Given the description of an element on the screen output the (x, y) to click on. 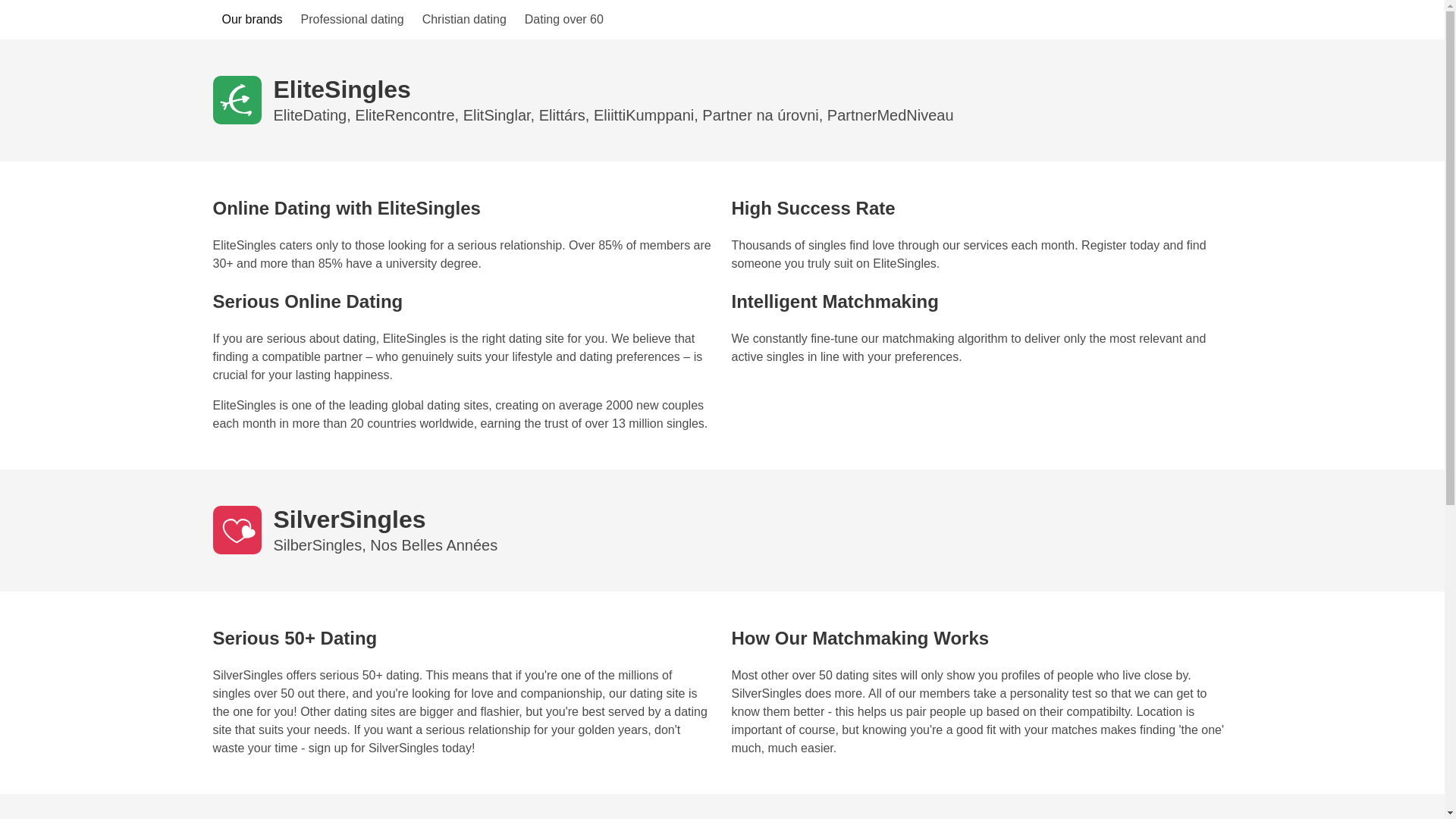
Professional dating (352, 19)
Christian dating (464, 19)
Dating over 60 (563, 19)
Our brands (251, 19)
